Given the description of an element on the screen output the (x, y) to click on. 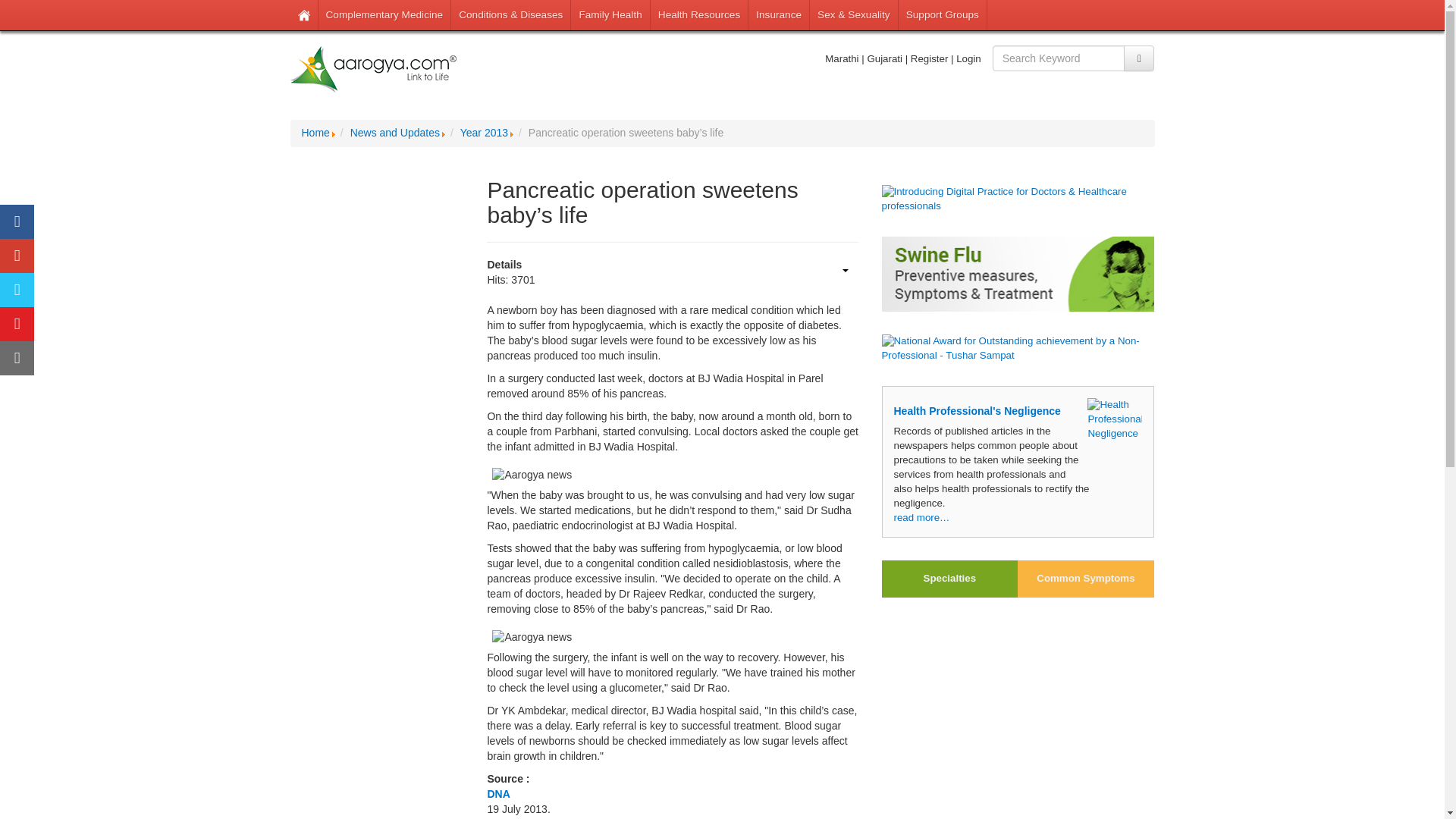
Aarogya news (531, 475)
Aarogya.com (373, 69)
Twitter (16, 289)
Facebook (16, 221)
Aarogya news (531, 637)
Swine Flu (1017, 274)
Youtube (16, 324)
Complementary Medicine (384, 15)
